Given the description of an element on the screen output the (x, y) to click on. 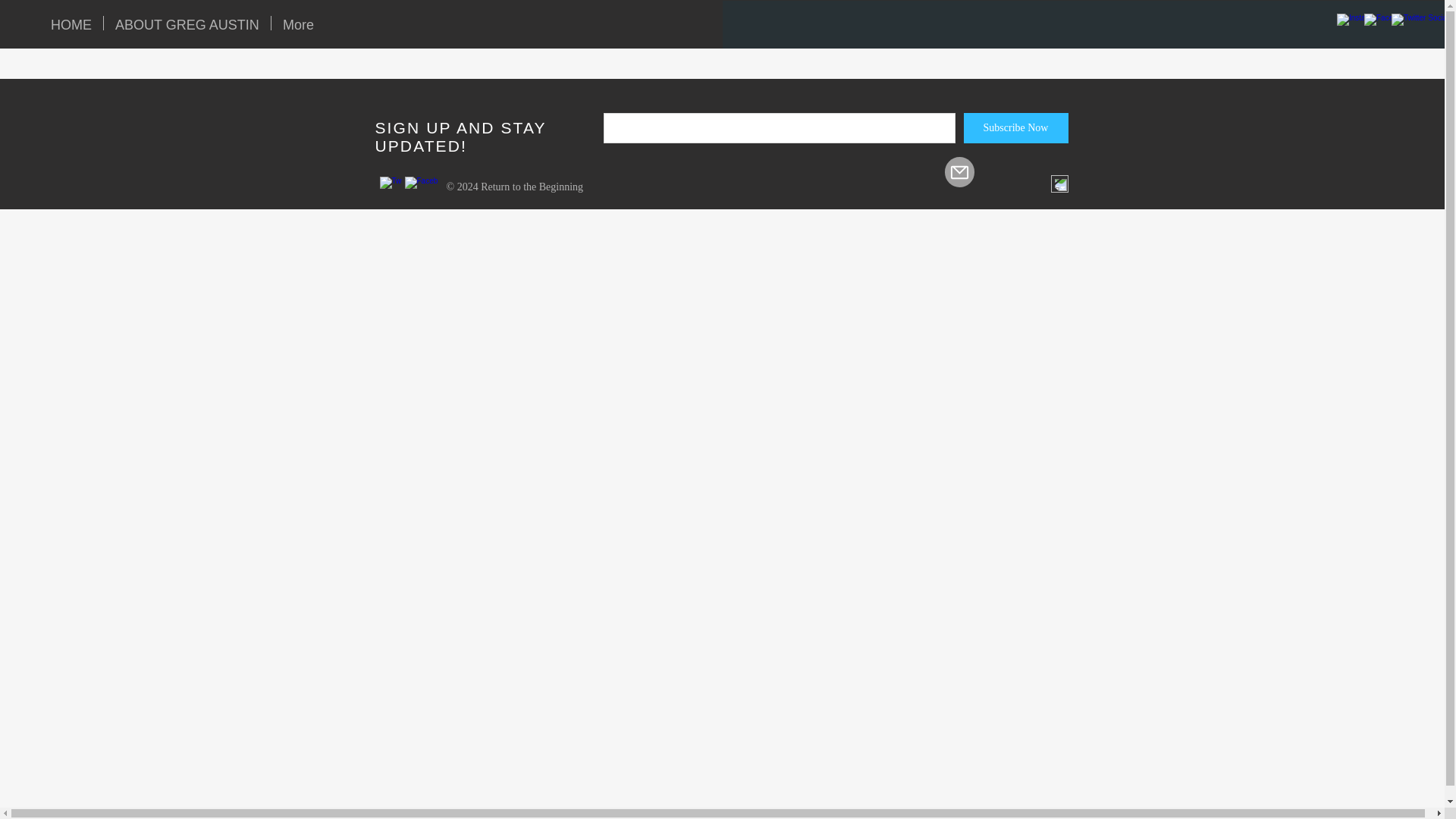
HOME (71, 22)
ABOUT GREG AUSTIN (186, 22)
Subscribe Now (1014, 128)
